Given the description of an element on the screen output the (x, y) to click on. 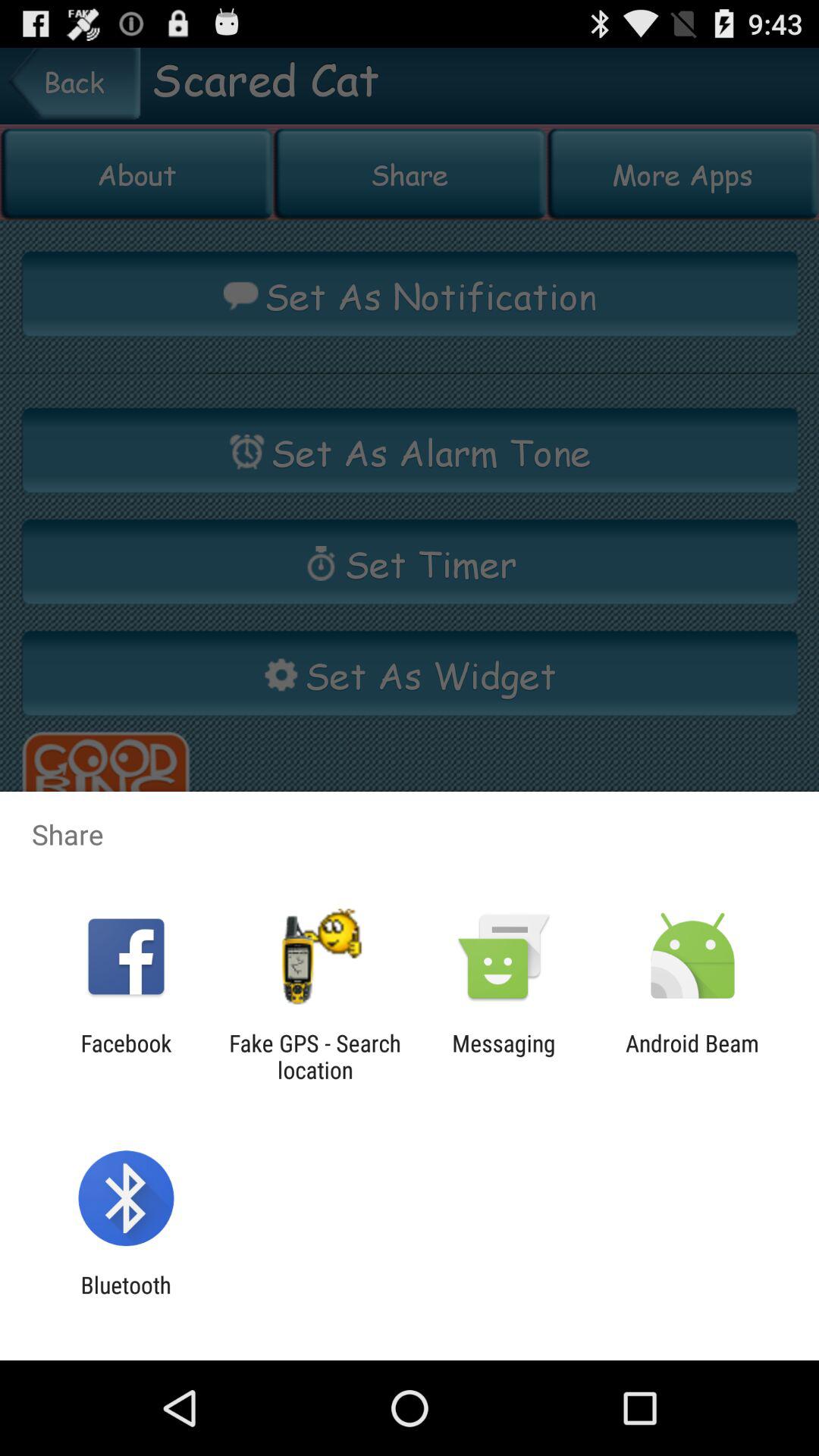
launch the app next to the messaging item (692, 1056)
